Given the description of an element on the screen output the (x, y) to click on. 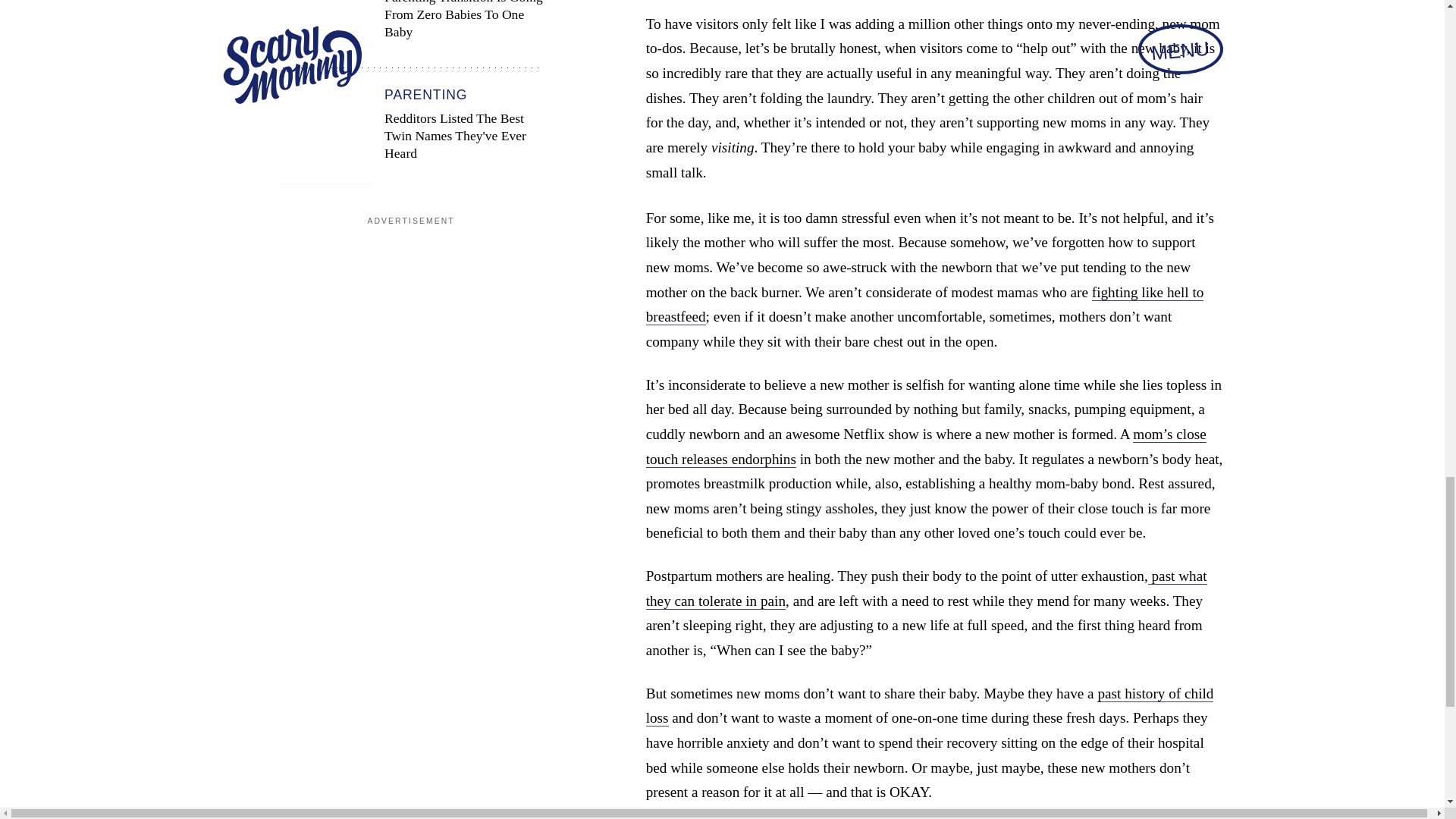
fighting like hell to breastfeed (925, 304)
past what they can tolerate in pain (926, 588)
past history of child loss (930, 706)
